Given the description of an element on the screen output the (x, y) to click on. 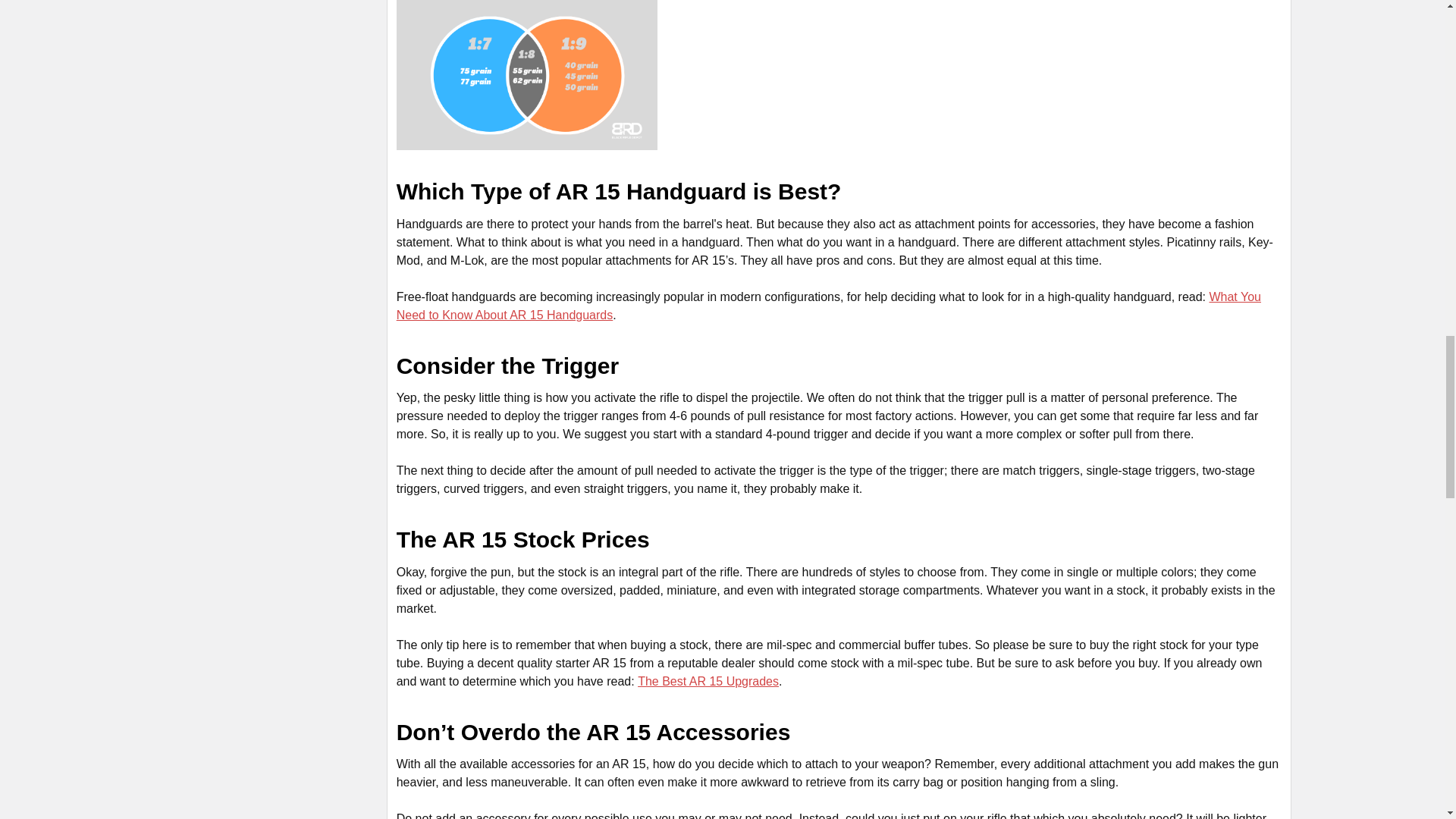
AR 15 Barrels (527, 74)
